Given the description of an element on the screen output the (x, y) to click on. 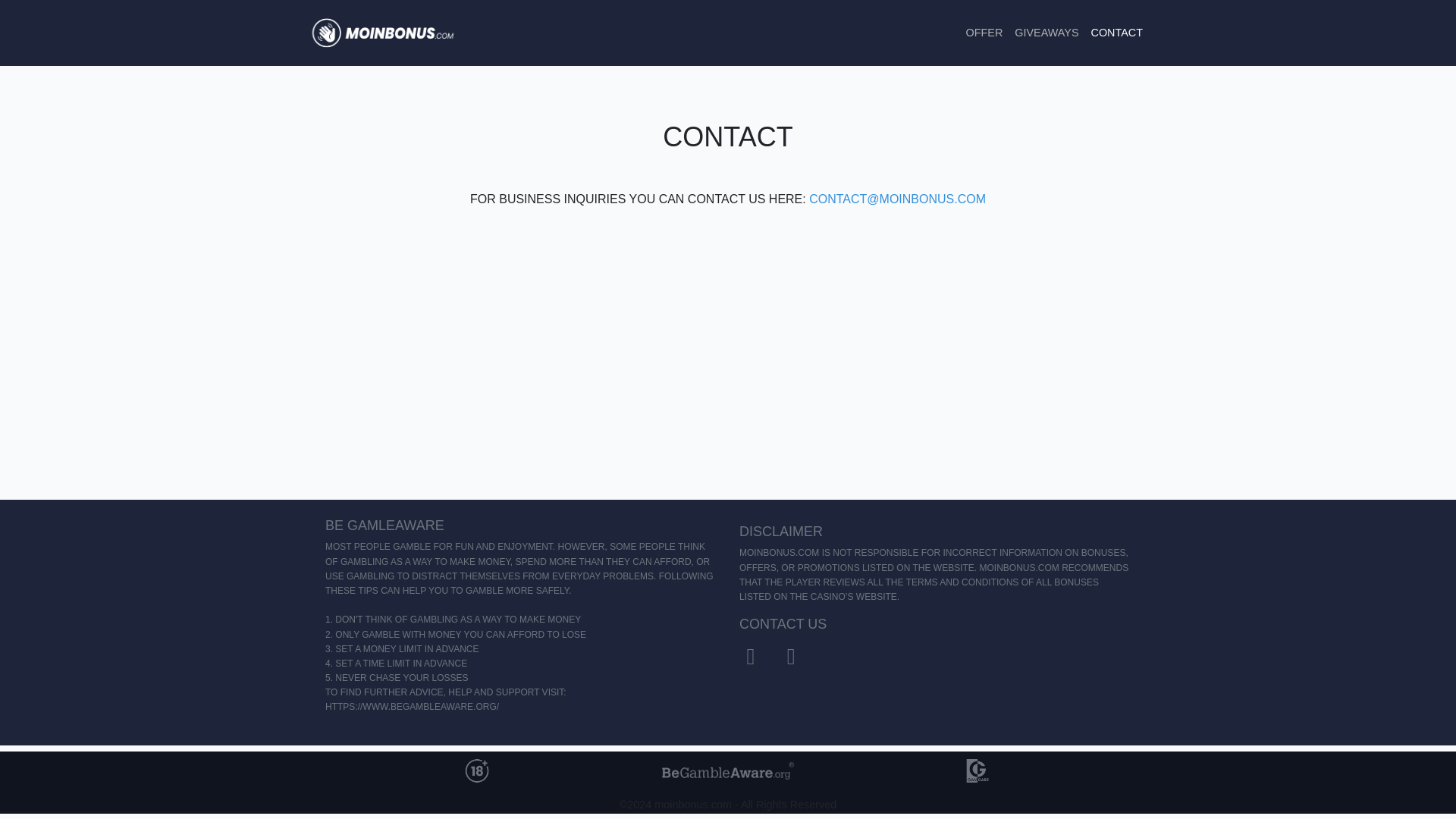
CONTACT (1116, 32)
GIVEAWAYS (1046, 32)
OFFER (984, 32)
